Given the description of an element on the screen output the (x, y) to click on. 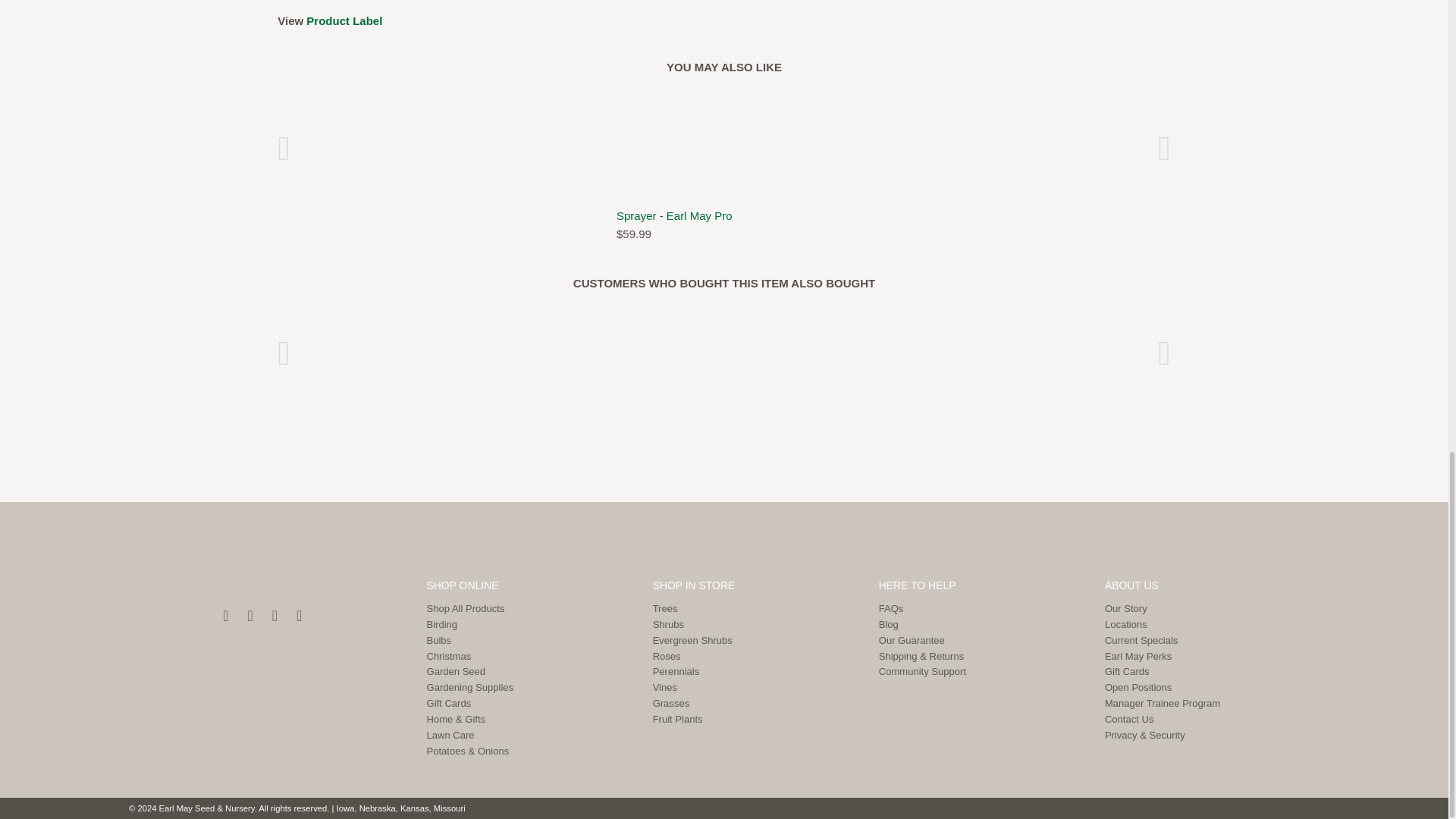
Label (343, 20)
